Given the description of an element on the screen output the (x, y) to click on. 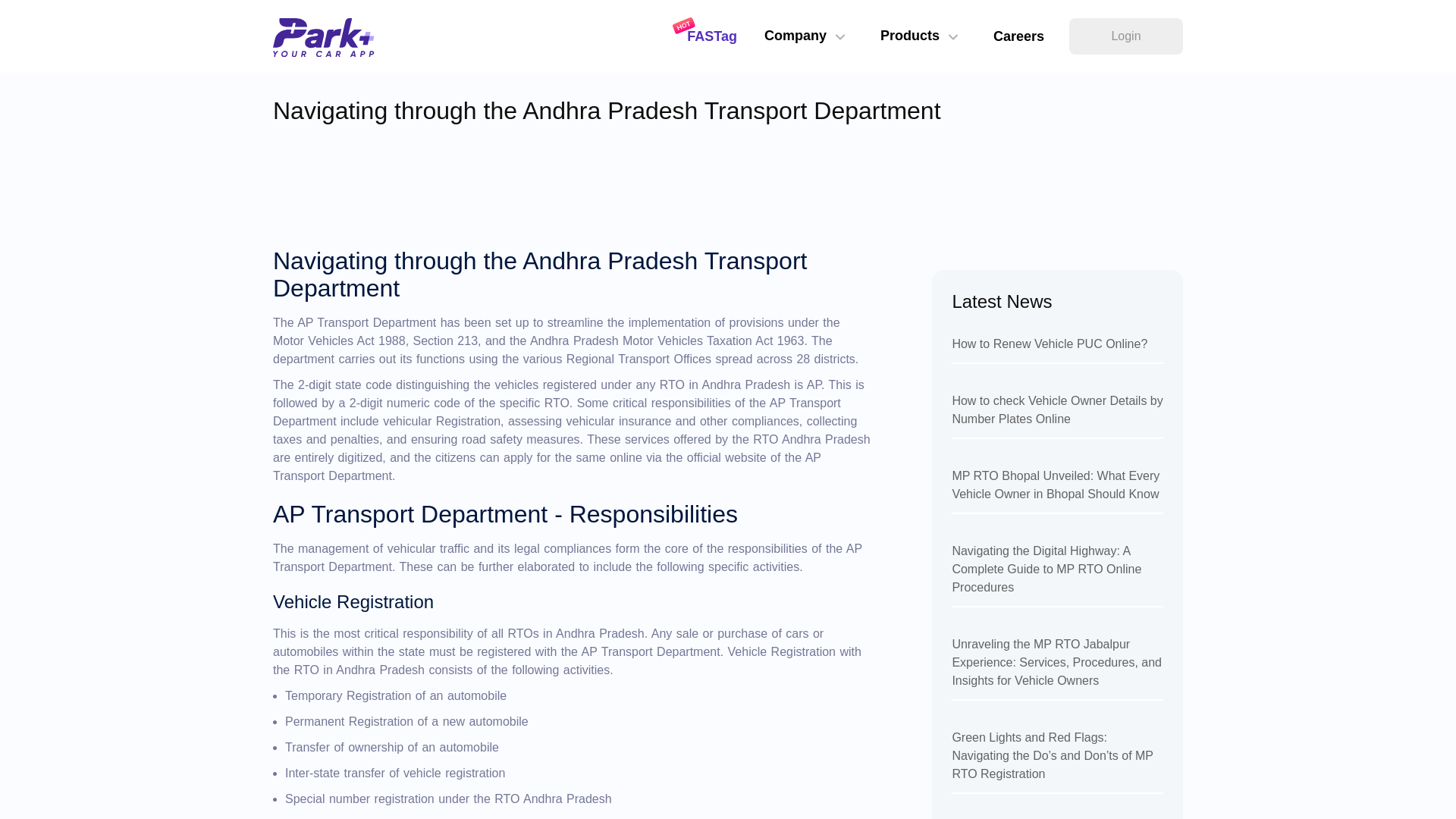
How to Renew Vehicle PUC Online? (1057, 348)
Login (1125, 36)
How to check Vehicle Owner Details by Number Plates Online (1057, 415)
